Given the description of an element on the screen output the (x, y) to click on. 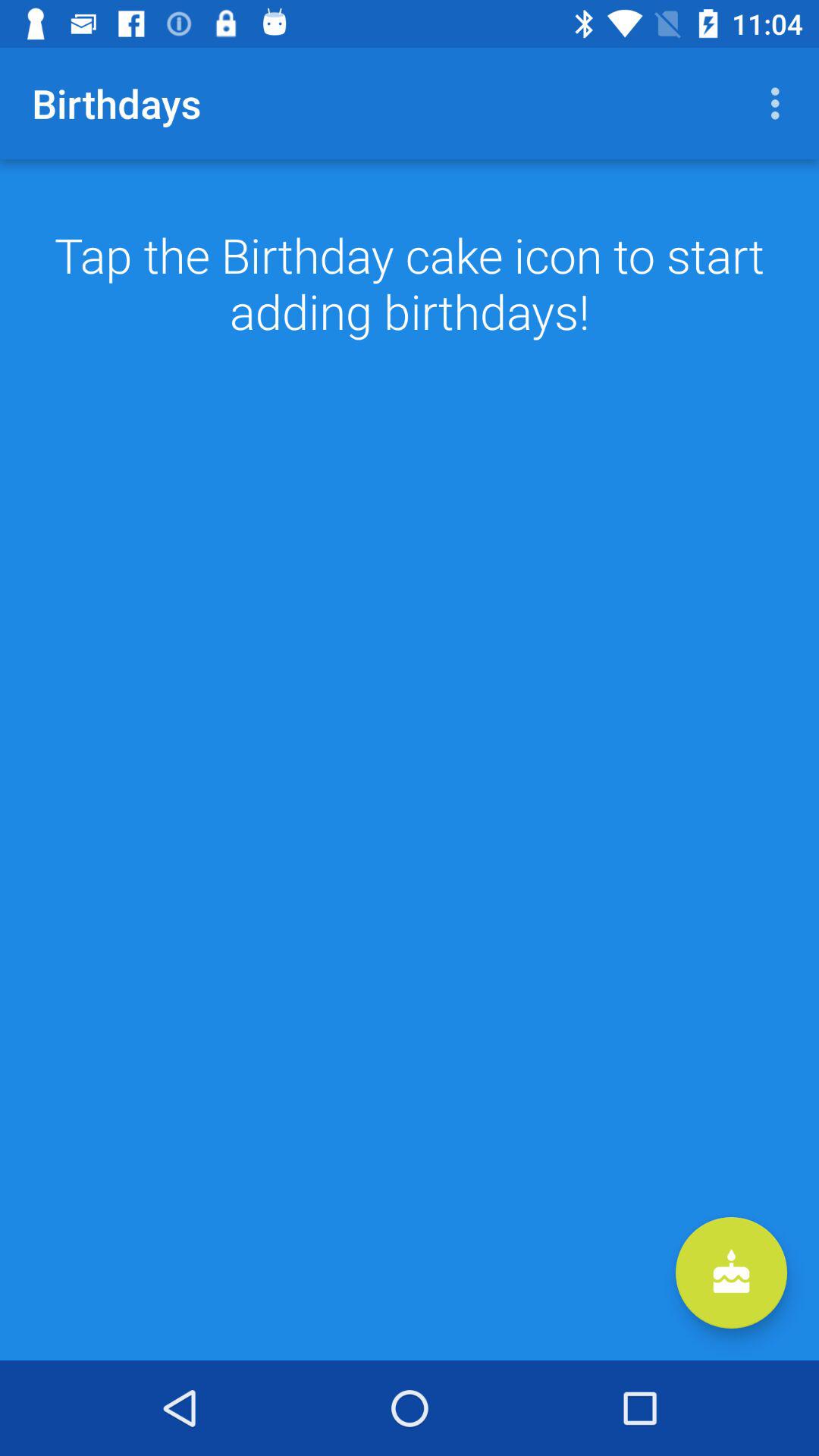
turn off app next to the birthdays icon (779, 103)
